Given the description of an element on the screen output the (x, y) to click on. 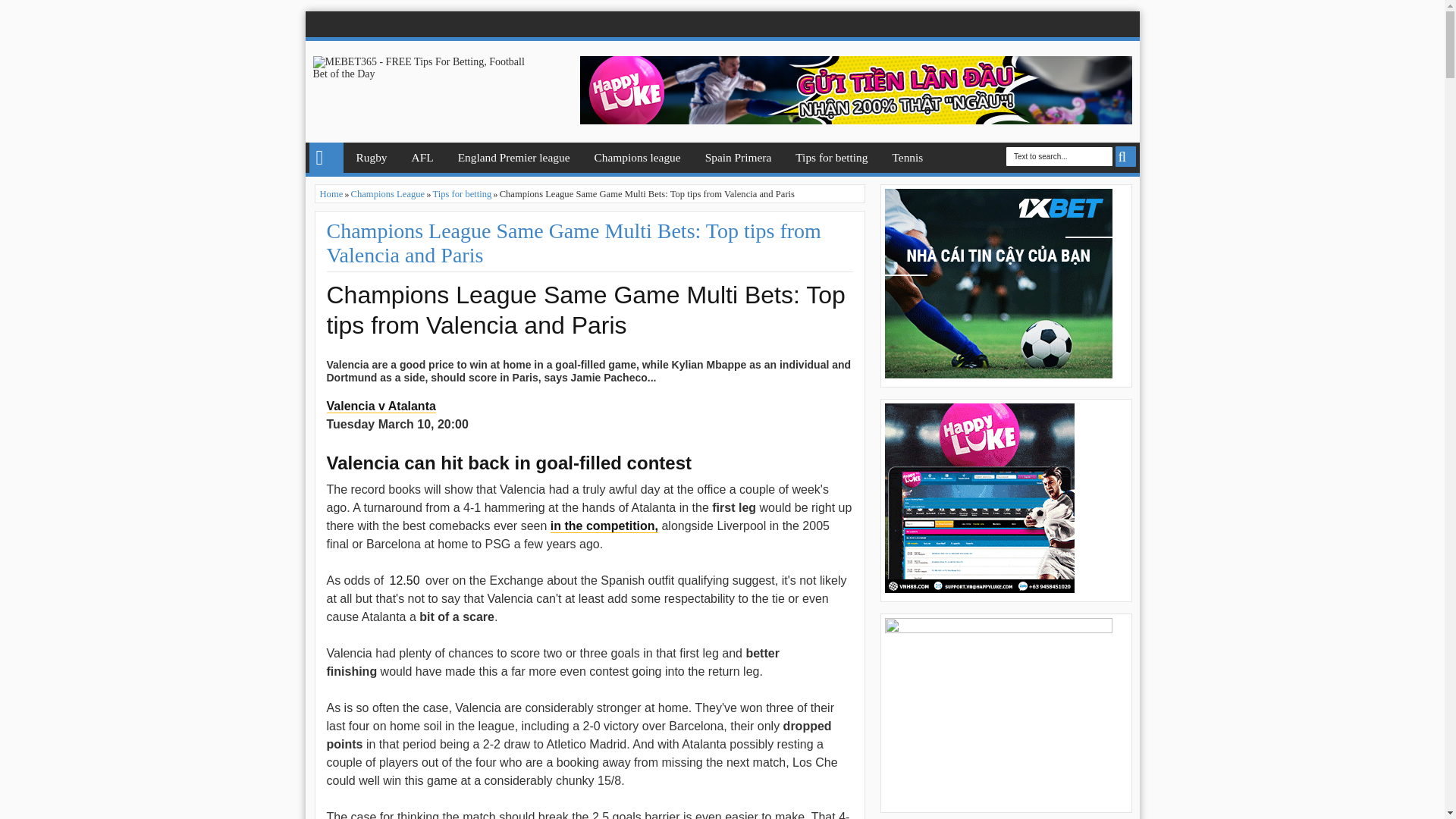
Vimeo (1103, 24)
RSS (1125, 24)
Text to search... (1059, 156)
AFL (422, 157)
Spain Primera (738, 157)
Rugby (370, 157)
Champions league (636, 157)
Linkedin (1039, 24)
twitter (997, 24)
Home (325, 157)
Dribble (1083, 24)
Facebook (976, 24)
Tips for betting (831, 157)
Pinterest (1061, 24)
Search (1125, 156)
